Given the description of an element on the screen output the (x, y) to click on. 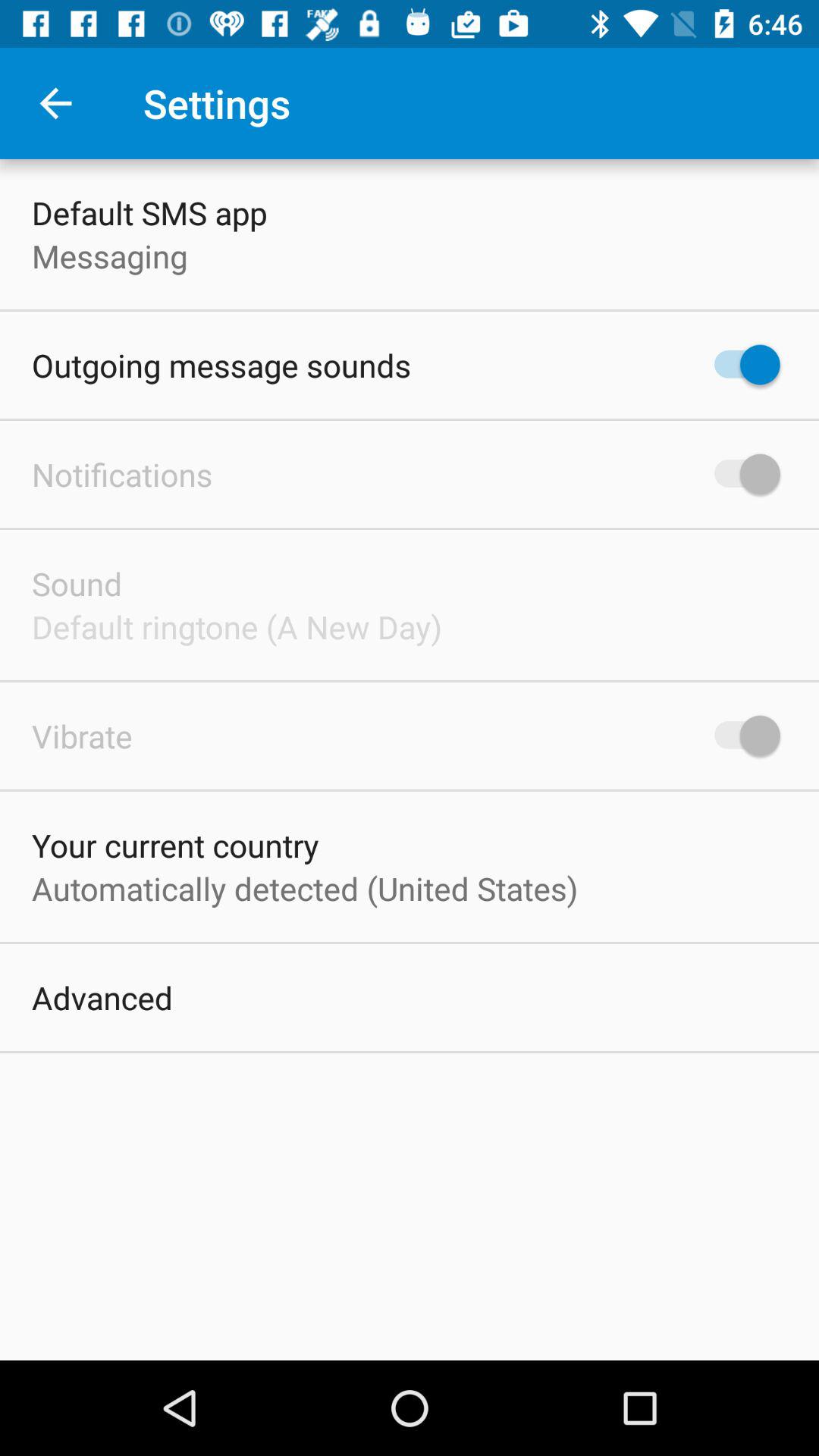
jump until messaging icon (109, 255)
